Given the description of an element on the screen output the (x, y) to click on. 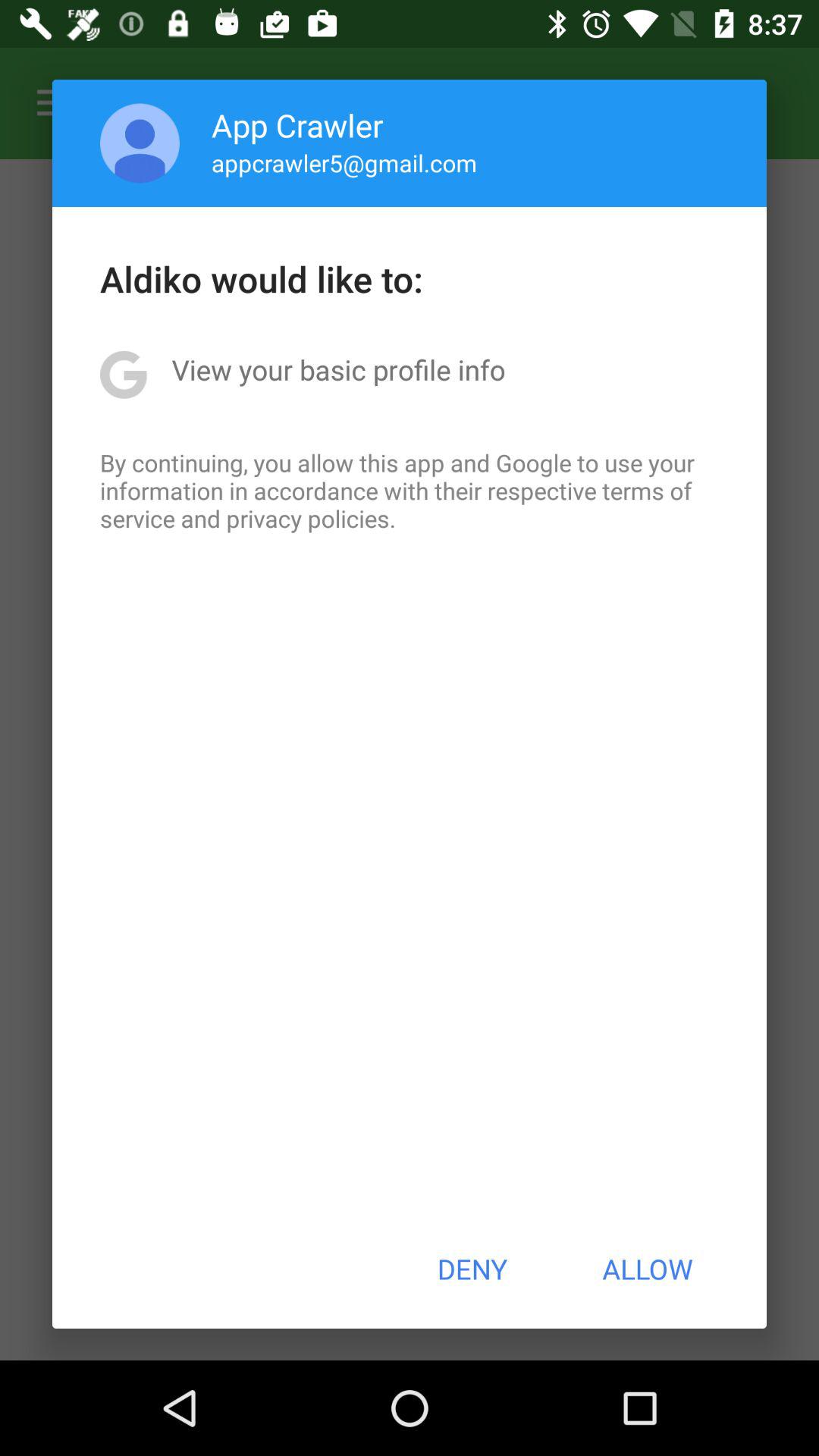
tap the item next to app crawler (139, 143)
